Given the description of an element on the screen output the (x, y) to click on. 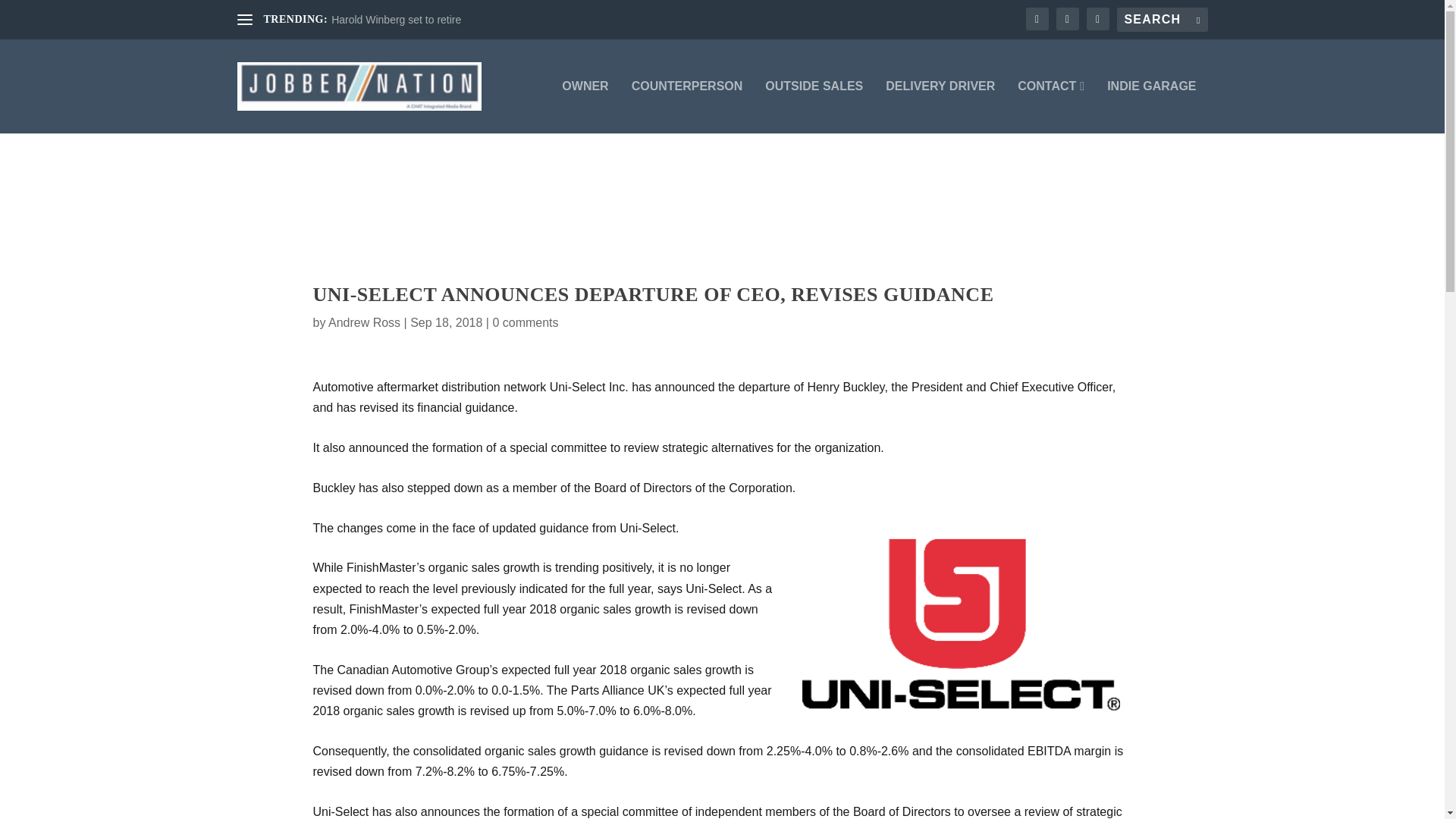
0 comments (524, 322)
OUTSIDE SALES (814, 106)
Posts by Andrew Ross (364, 322)
Search for: (1161, 19)
INDIE GARAGE (1150, 106)
Harold Winberg set to retire (396, 19)
Andrew Ross (364, 322)
COUNTERPERSON (686, 106)
DELIVERY DRIVER (939, 106)
CONTACT (1050, 106)
